Given the description of an element on the screen output the (x, y) to click on. 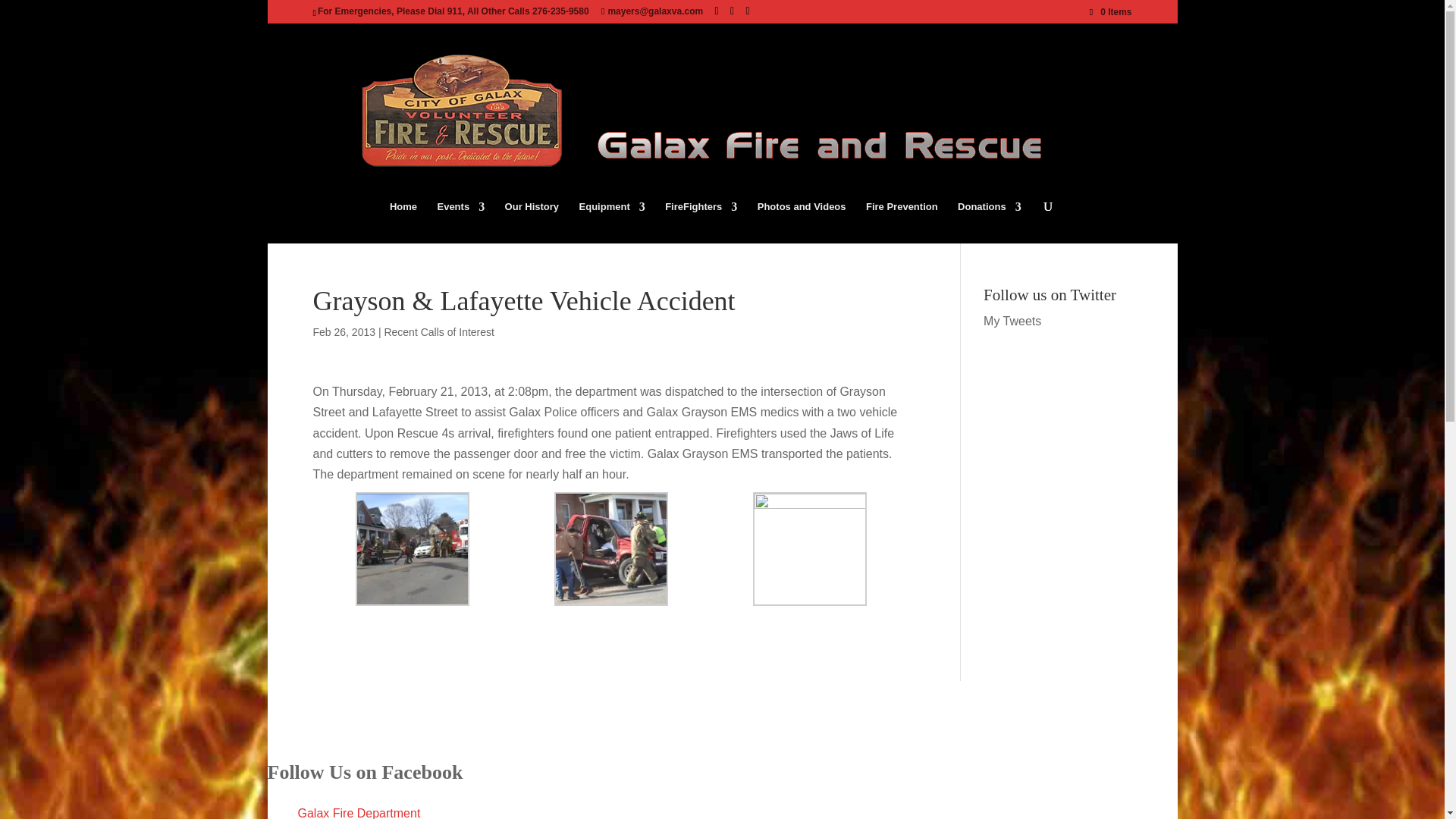
Our History (532, 222)
Photos and Videos (801, 222)
Equipment (612, 222)
Events (460, 222)
0 Items (1110, 11)
FireFighters (700, 222)
Fire Prevention (901, 222)
Donations (990, 222)
